Given the description of an element on the screen output the (x, y) to click on. 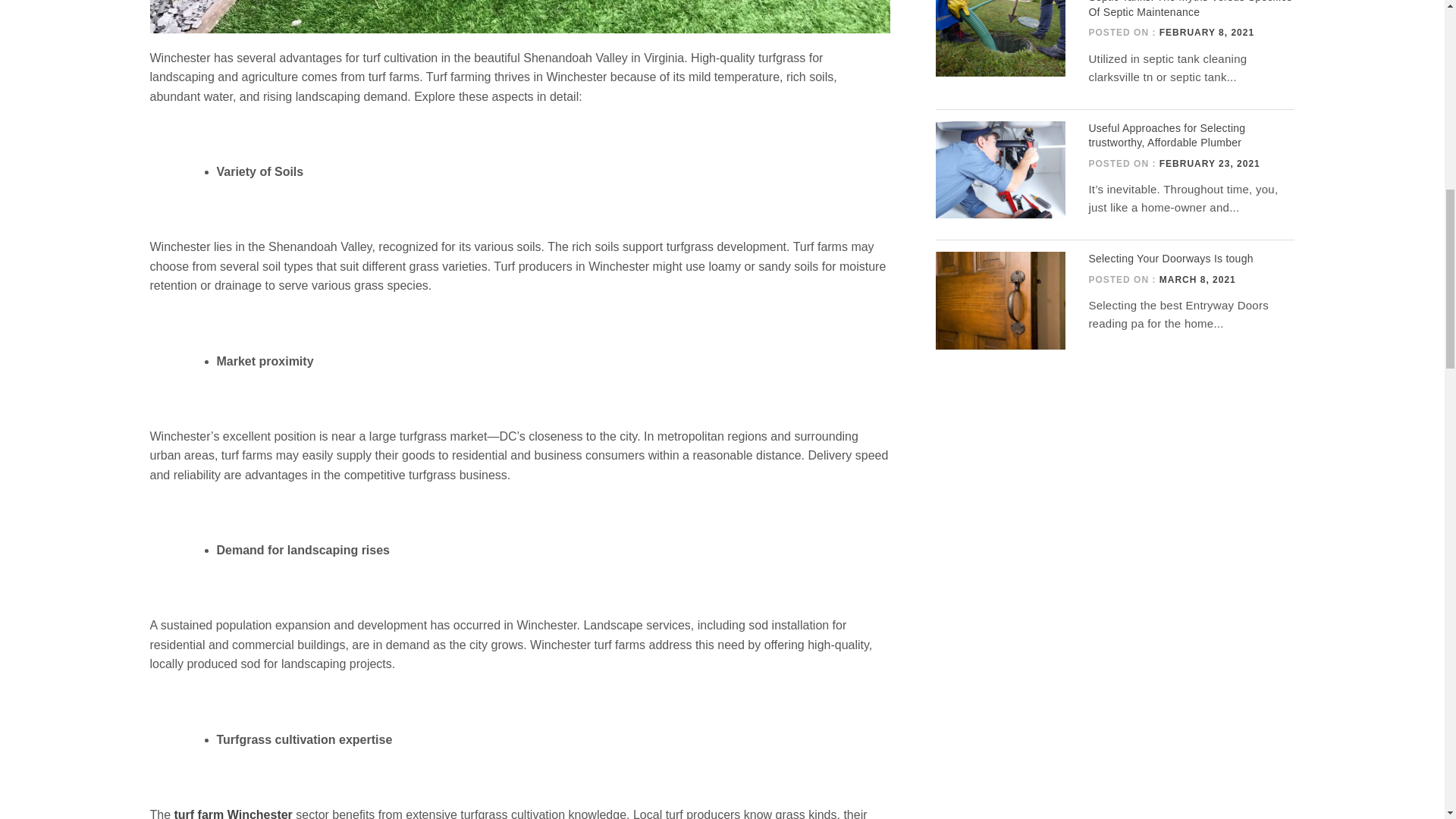
Selecting Your Doorways Is tough (1169, 258)
FEBRUARY 23, 2021 (1209, 163)
turf farm Winchester (233, 813)
FEBRUARY 8, 2021 (1205, 32)
MARCH 8, 2021 (1197, 279)
